Given the description of an element on the screen output the (x, y) to click on. 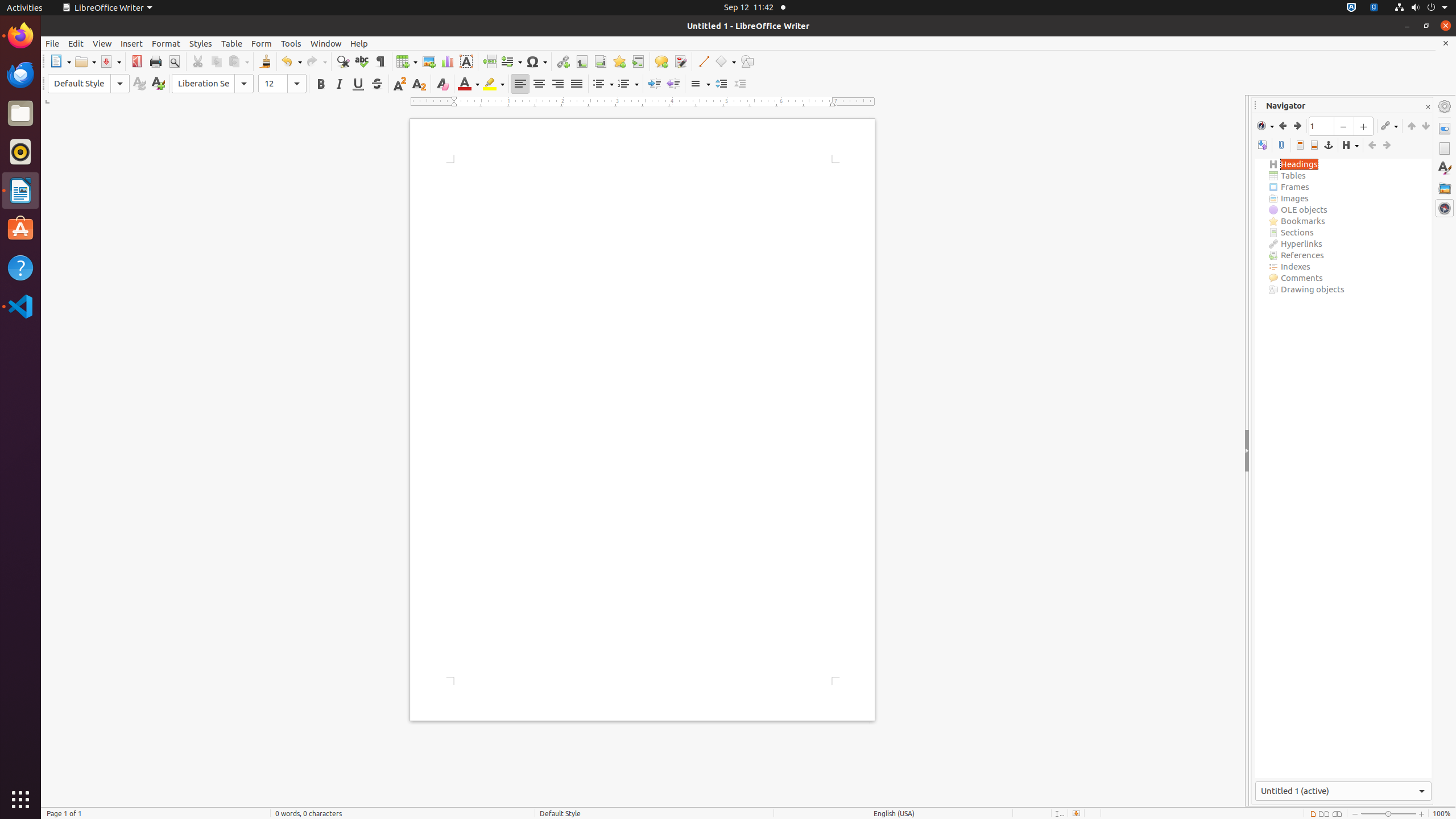
System Element type: menu (1420, 7)
Strikethrough Element type: toggle-button (376, 83)
Copy Element type: push-button (216, 61)
Thunderbird Mail Element type: push-button (20, 74)
Rhythmbox Element type: push-button (20, 151)
